Given the description of an element on the screen output the (x, y) to click on. 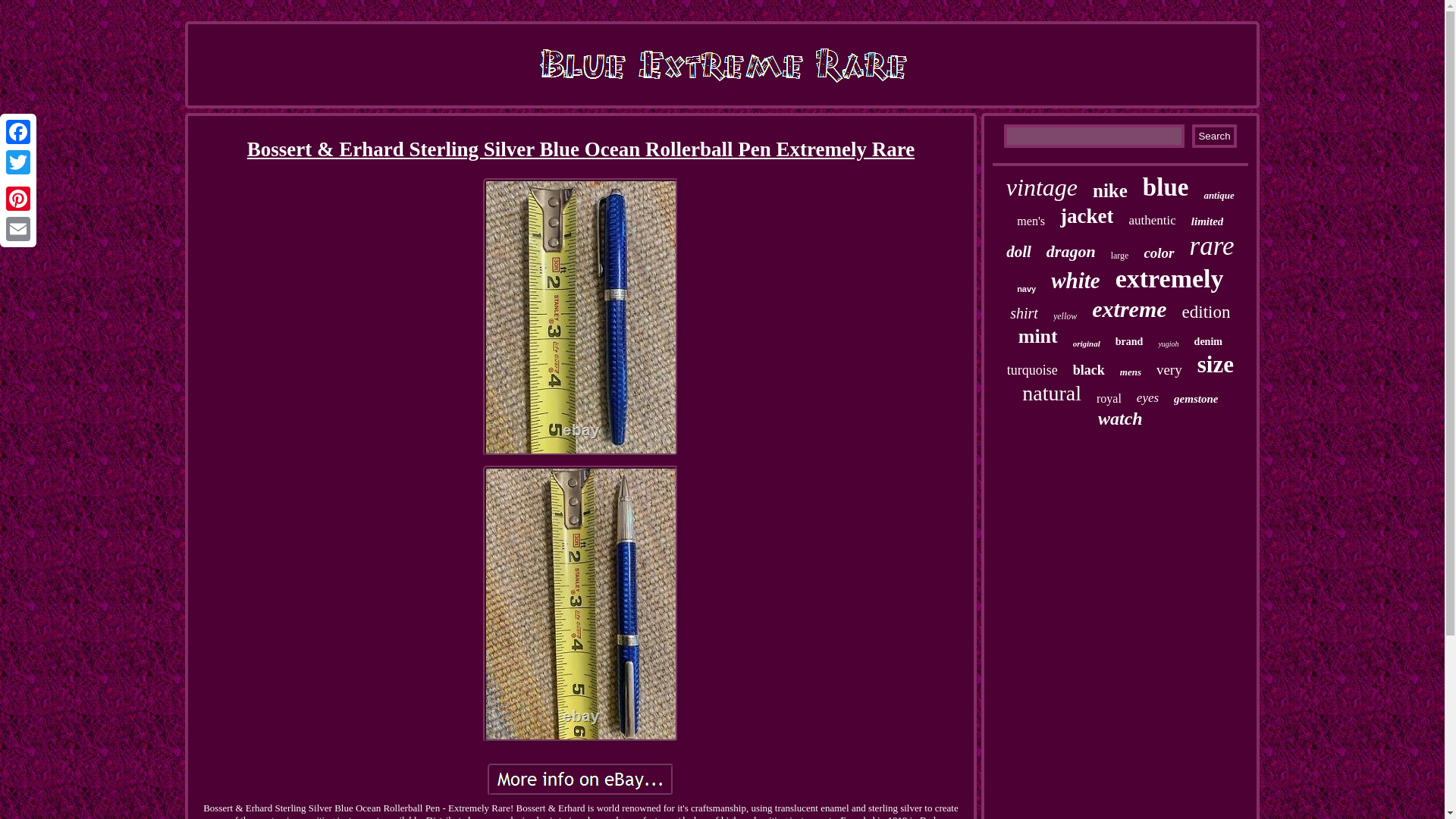
navy (1025, 288)
yellow (1064, 316)
vintage (1041, 187)
white (1075, 280)
blue (1165, 187)
extreme (1129, 309)
nike (1109, 190)
authentic (1151, 220)
large (1119, 255)
doll (1018, 251)
Facebook (17, 132)
jacket (1086, 216)
mint (1037, 336)
antique (1218, 195)
shirt (1024, 313)
